Given the description of an element on the screen output the (x, y) to click on. 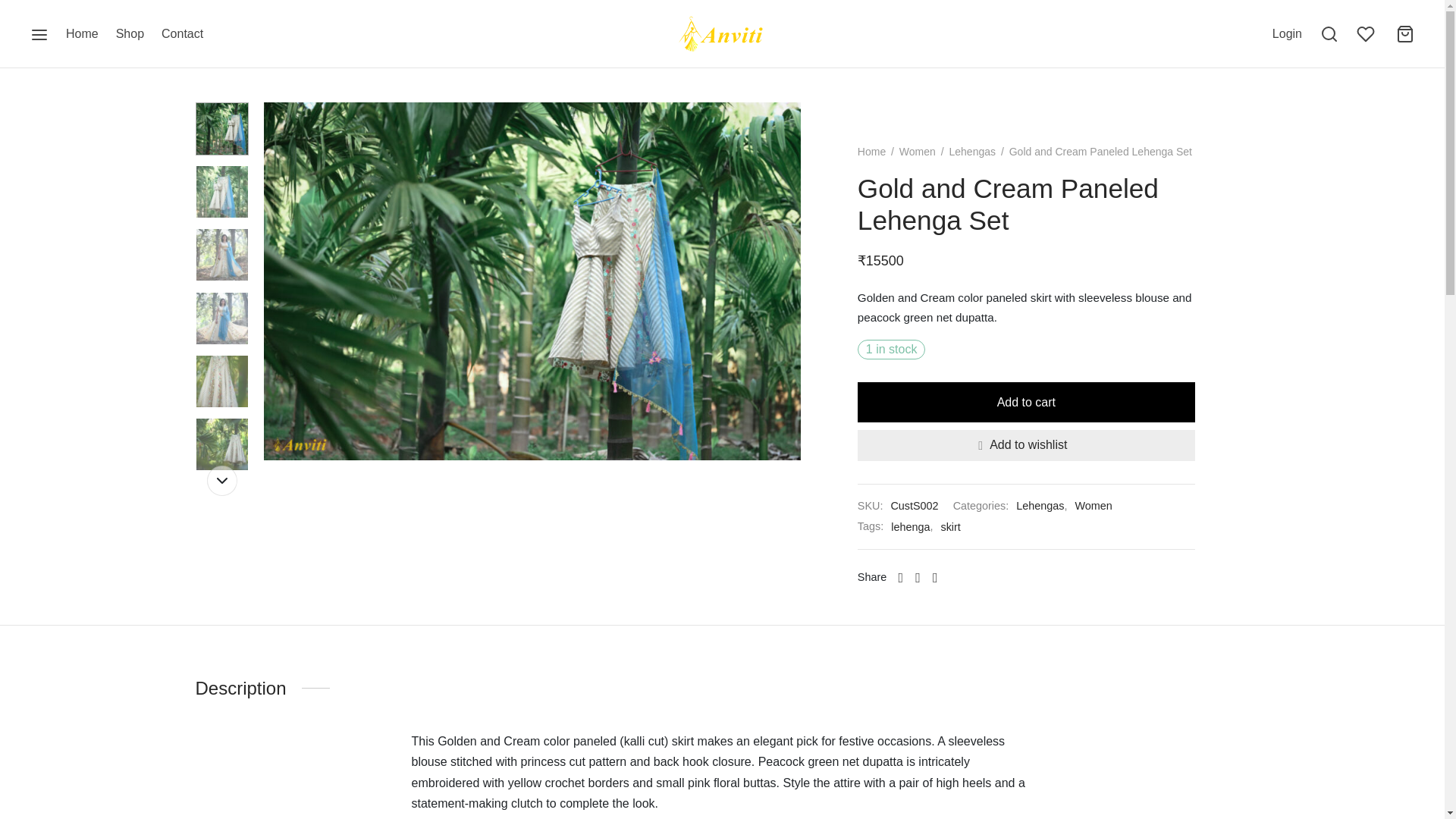
Cart (1404, 34)
Login (1286, 33)
Contact (182, 34)
Home (82, 34)
Shop (130, 34)
